Given the description of an element on the screen output the (x, y) to click on. 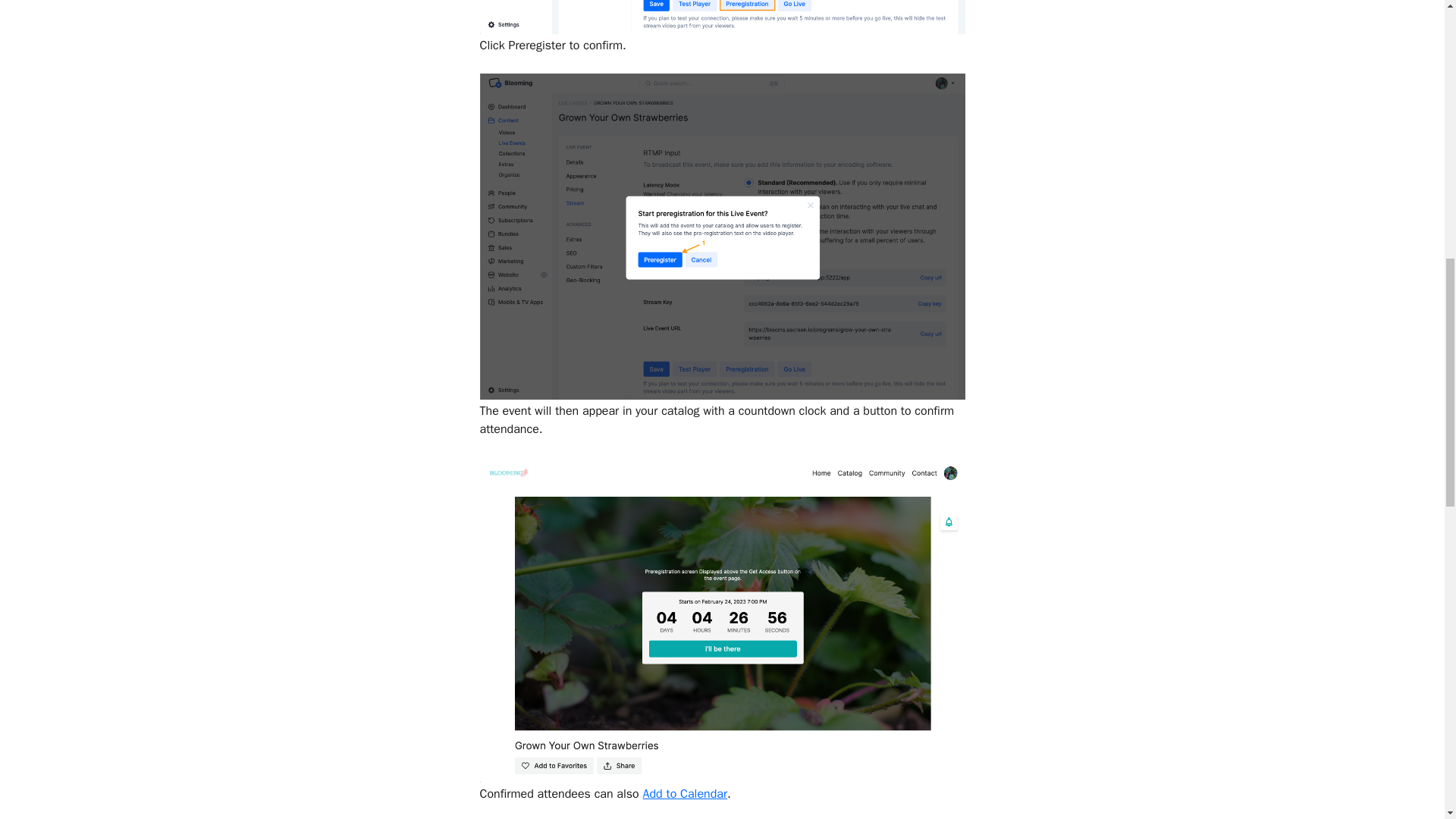
Add to Calendar (685, 793)
